Given the description of an element on the screen output the (x, y) to click on. 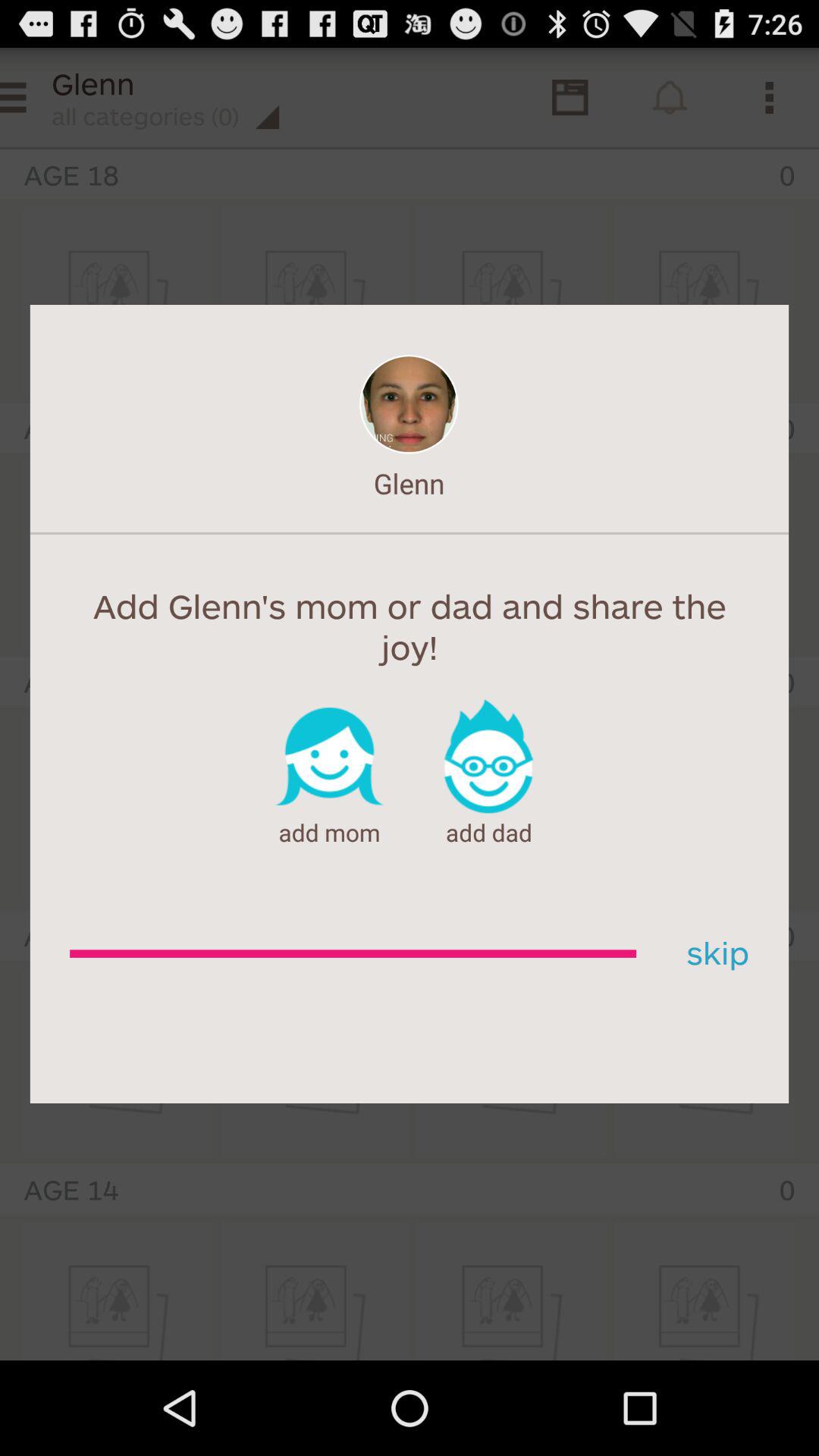
choose item on the right (712, 953)
